Given the description of an element on the screen output the (x, y) to click on. 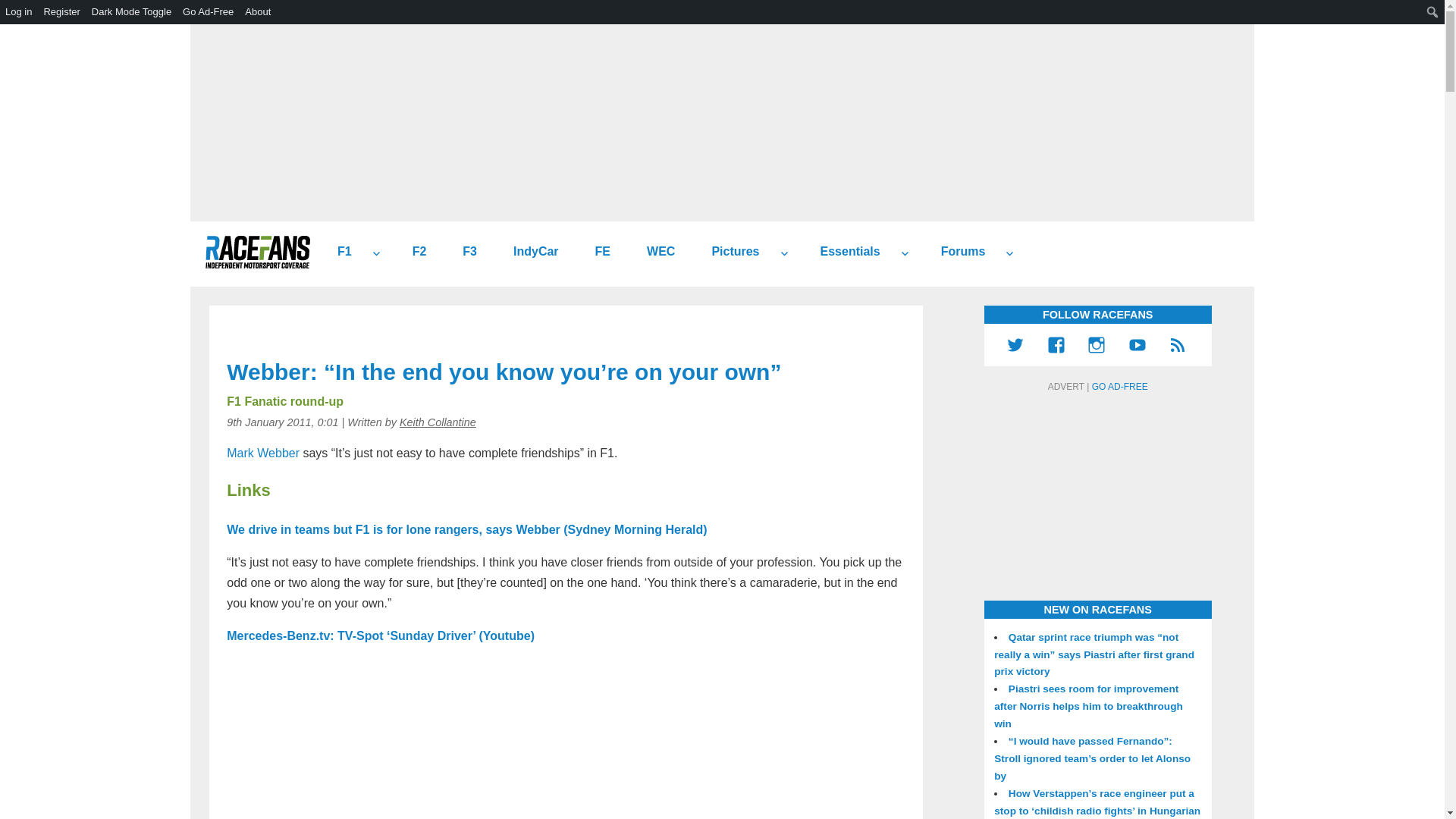
WEC (655, 251)
F1 (338, 251)
F2 (413, 251)
Pictures (729, 251)
IndyCar (529, 251)
Formula 1 (338, 251)
Formula 2 (413, 251)
expand child menu (783, 253)
World Endurance Championship (655, 251)
expand child menu (904, 253)
expand child menu (376, 253)
F3 (463, 251)
IndyCar (529, 251)
F1 pictures and wallpapers (729, 251)
Essentials (844, 251)
